Given the description of an element on the screen output the (x, y) to click on. 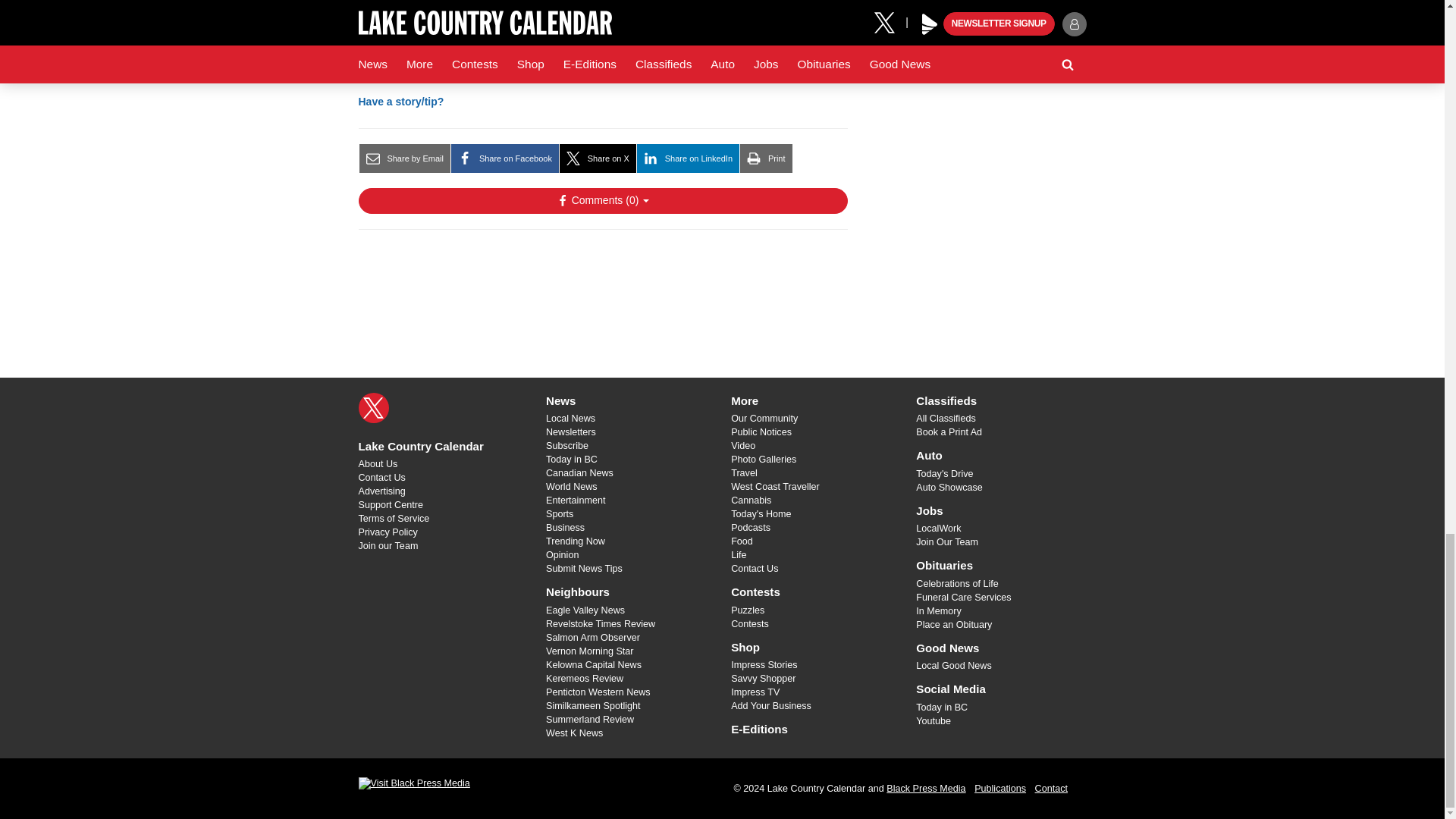
Show Comments (602, 200)
X (373, 408)
